Given the description of an element on the screen output the (x, y) to click on. 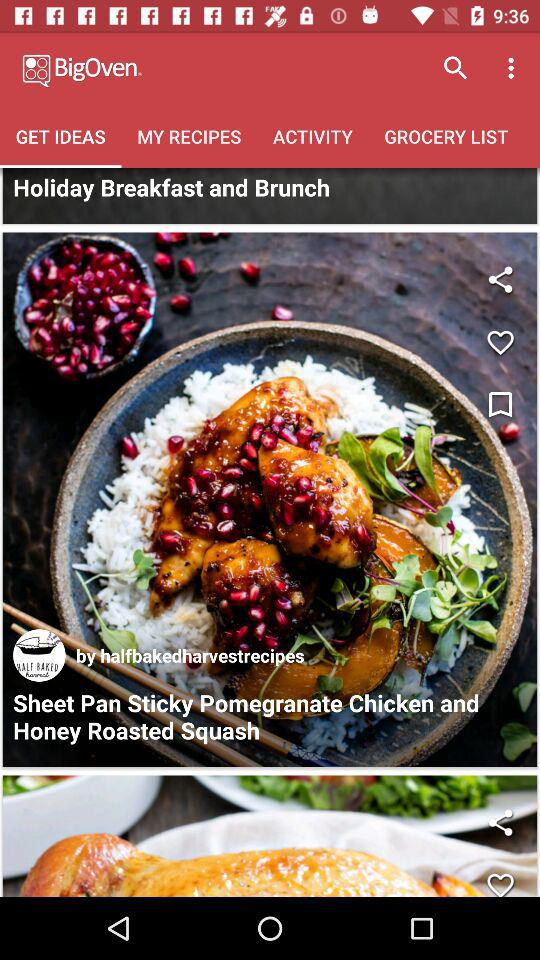
a heart emoticon or blinkingshare button (500, 878)
